Given the description of an element on the screen output the (x, y) to click on. 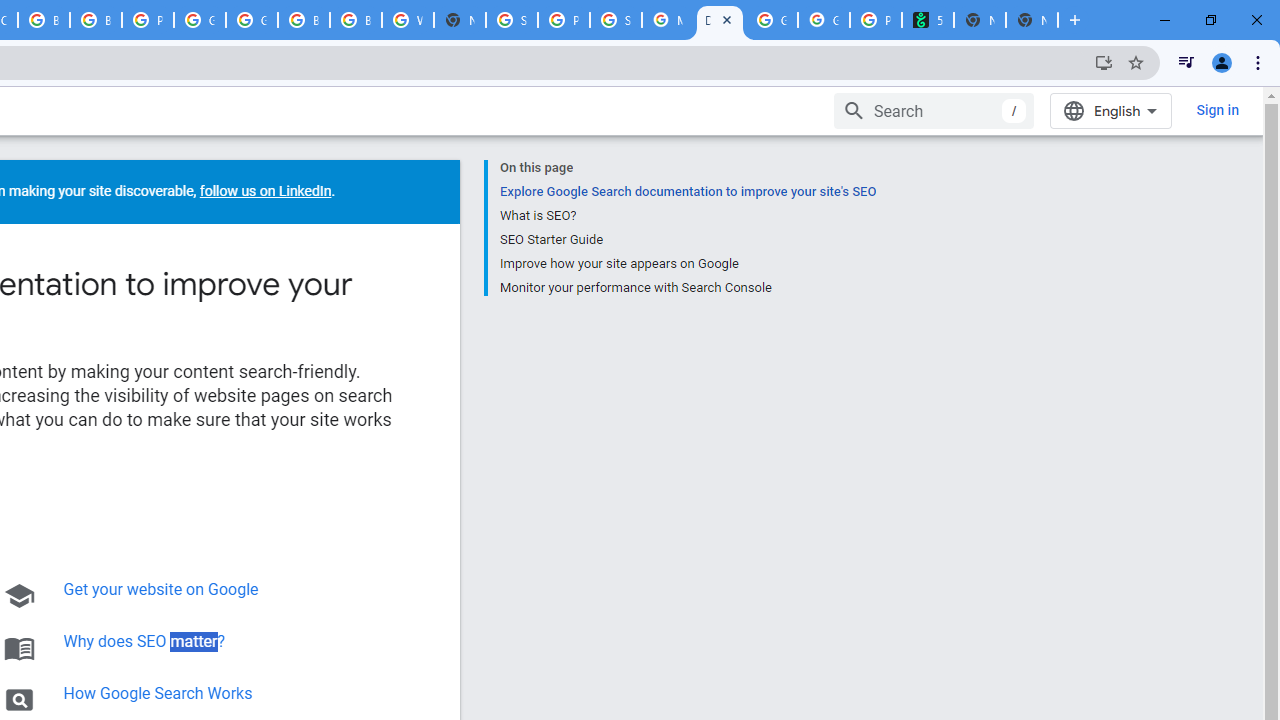
follow us on LinkedIn (264, 191)
New Tab (459, 20)
Browse Chrome as a guest - Computer - Google Chrome Help (303, 20)
English (1110, 110)
Get your website on Google (160, 589)
Improve how your site appears on Google (687, 263)
Browse Chrome as a guest - Computer - Google Chrome Help (43, 20)
